Given the description of an element on the screen output the (x, y) to click on. 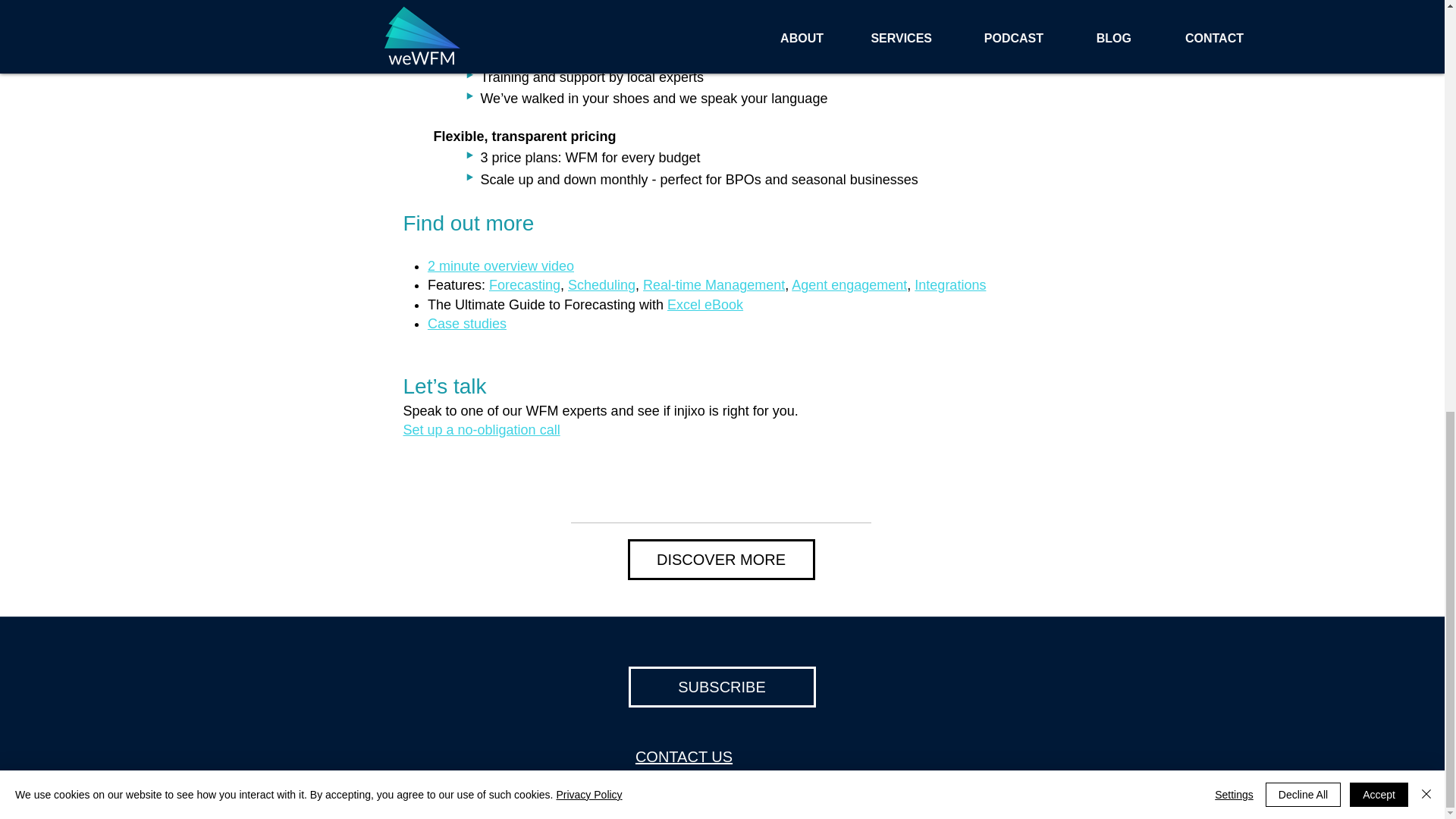
Agent engagement (849, 284)
Case studies (467, 323)
Scheduling (600, 284)
Real-time Management (713, 284)
Excel eBook (704, 304)
DISCOVER MORE (721, 558)
SUBSCRIBE (721, 686)
2 minute overview video (500, 265)
Set up a no-obligation call (481, 429)
Forecasting (524, 284)
Integrations (949, 284)
Privacy Policy. (834, 786)
CONTACT US (683, 756)
